Given the description of an element on the screen output the (x, y) to click on. 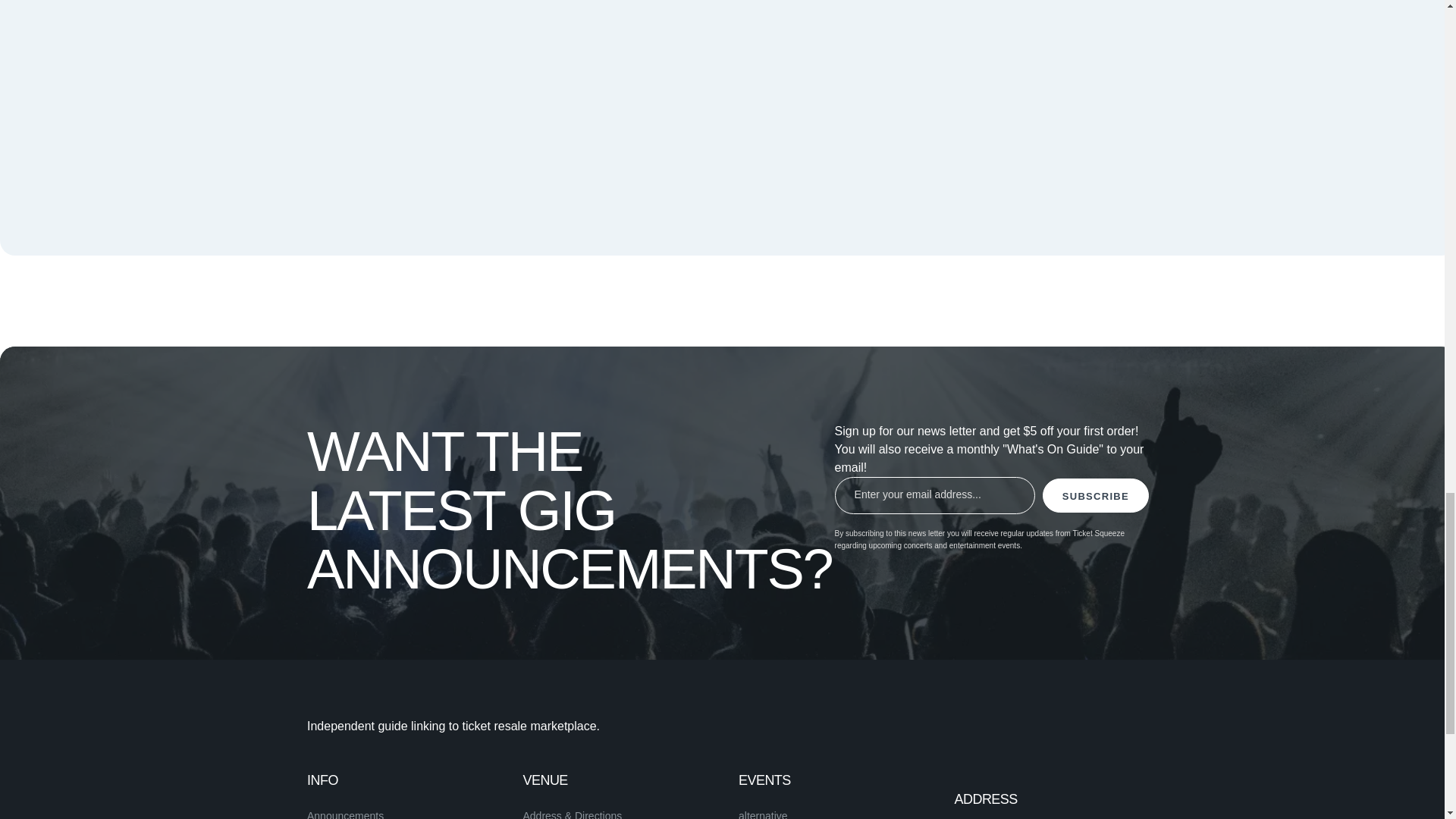
venue map (905, 82)
Announcements (345, 814)
alternative (762, 814)
SUBSCRIBE (1095, 495)
